Given the description of an element on the screen output the (x, y) to click on. 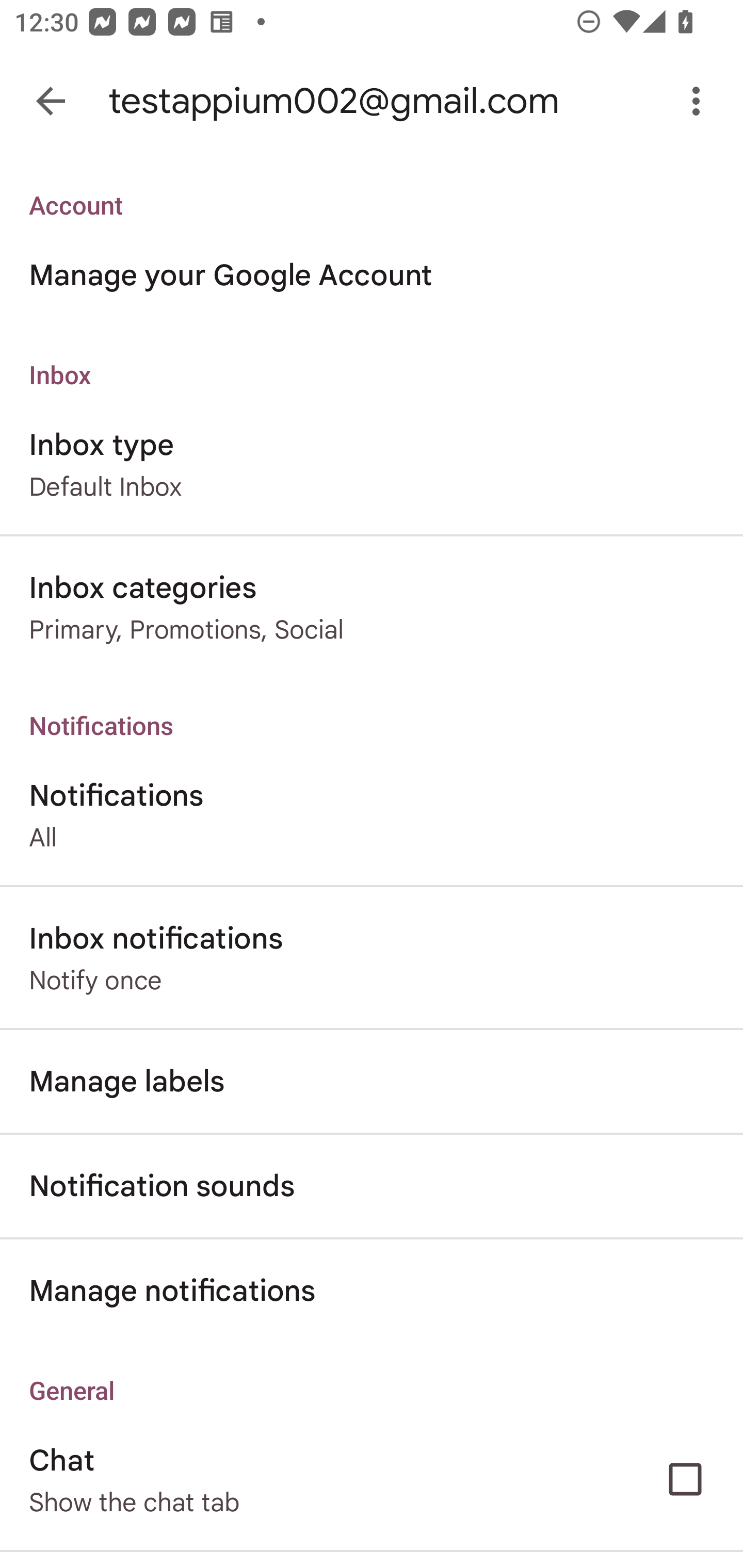
Navigate up (50, 101)
More options (699, 101)
Manage your Google Account (371, 275)
Inbox type Default Inbox (371, 463)
Inbox categories Primary, Promotions, Social (371, 606)
Notifications All (371, 814)
Inbox notifications Notify once (371, 957)
Manage labels (371, 1081)
Notification sounds (371, 1186)
Manage notifications (371, 1290)
Chat Show the chat tab (371, 1479)
